Given the description of an element on the screen output the (x, y) to click on. 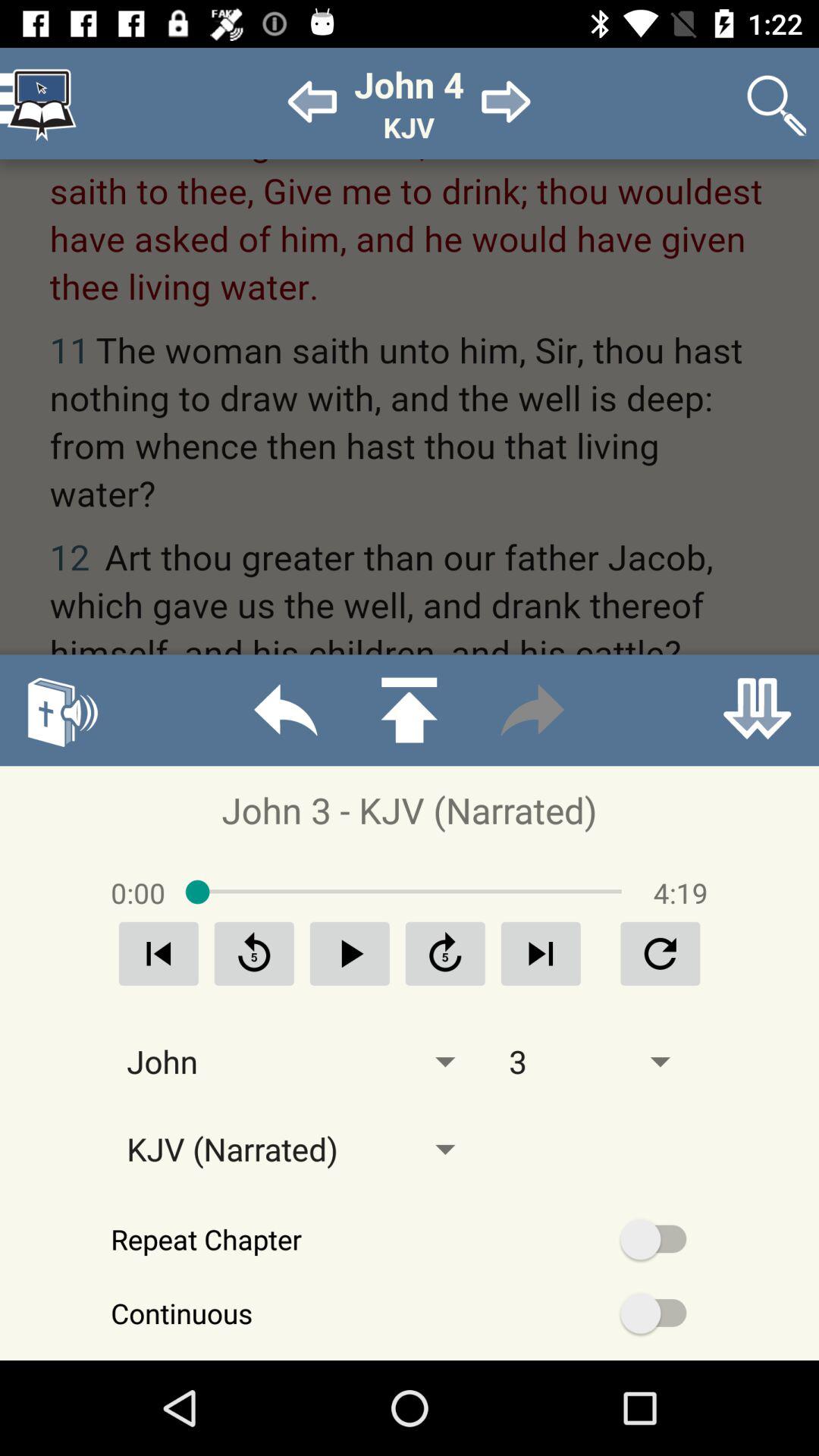
next audio (540, 953)
